Given the description of an element on the screen output the (x, y) to click on. 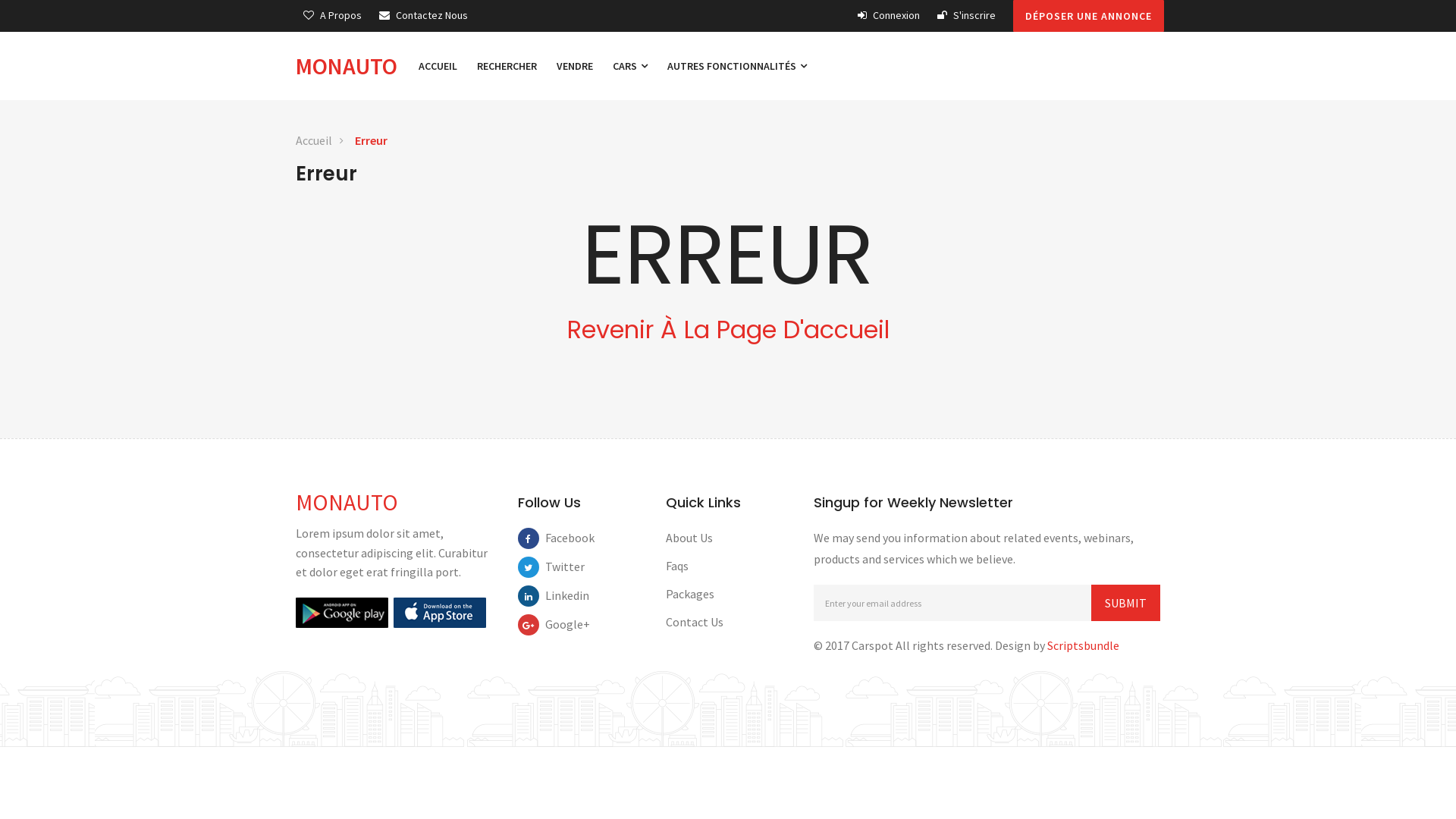
Submit Element type: text (1125, 602)
RECHERCHER Element type: text (506, 65)
A Propos Element type: text (332, 14)
Connexion Element type: text (888, 14)
Contact Us Element type: text (694, 621)
Faqs Element type: text (676, 565)
VENDRE Element type: text (574, 65)
Erreur Element type: text (370, 140)
CARS Element type: text (629, 65)
About Us Element type: text (688, 537)
MONAUTO Element type: text (346, 501)
ACCUEIL Element type: text (437, 65)
S'Inscrire Element type: text (966, 14)
Packages Element type: text (689, 593)
MONAUTO Element type: text (351, 65)
Scriptsbundle Element type: text (1082, 644)
Accueil Element type: text (313, 140)
Contactez Nous Element type: text (423, 14)
